Given the description of an element on the screen output the (x, y) to click on. 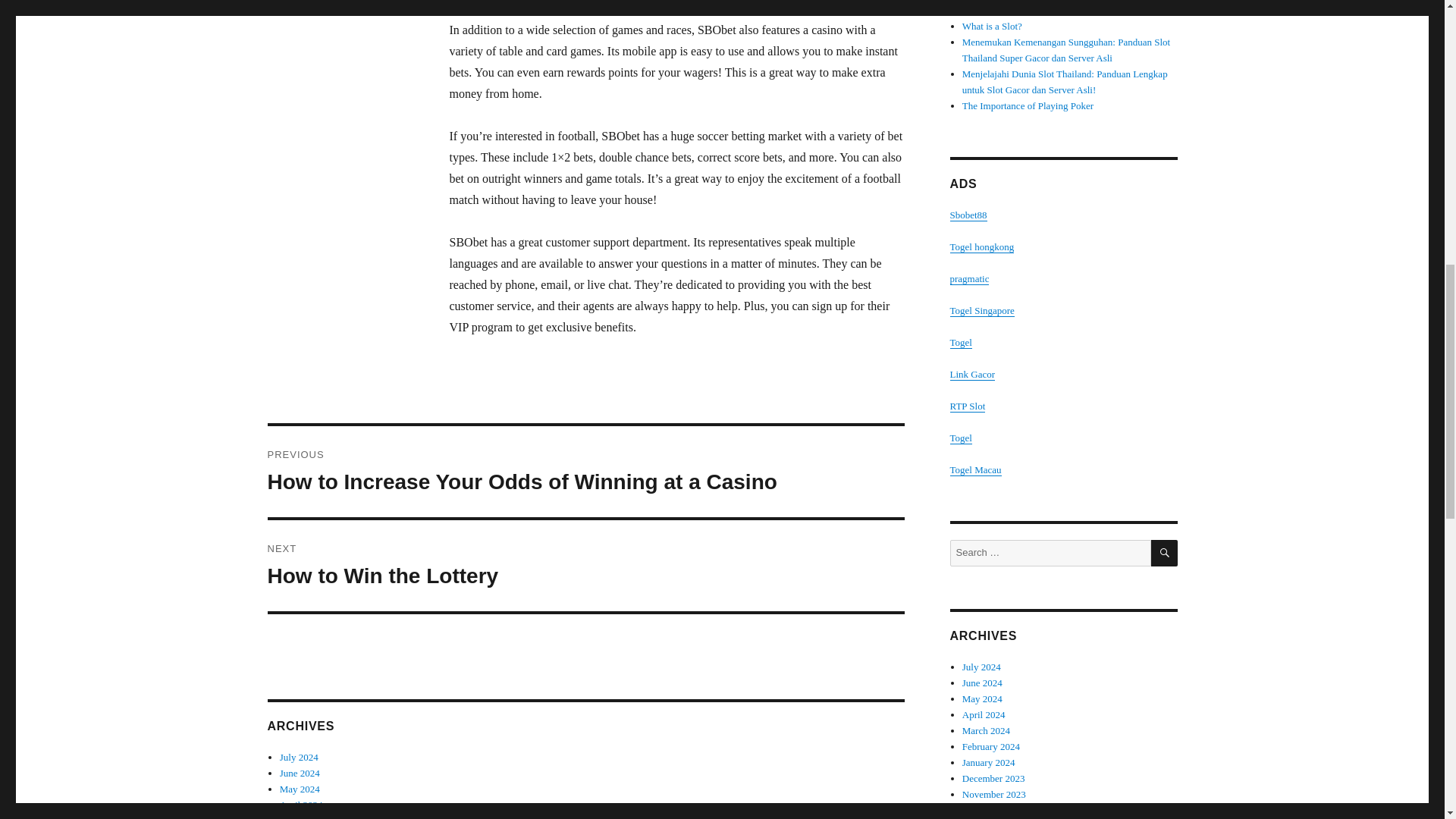
April 2024 (585, 565)
March 2024 (301, 804)
June 2024 (303, 816)
May 2024 (299, 772)
July 2024 (299, 788)
